Given the description of an element on the screen output the (x, y) to click on. 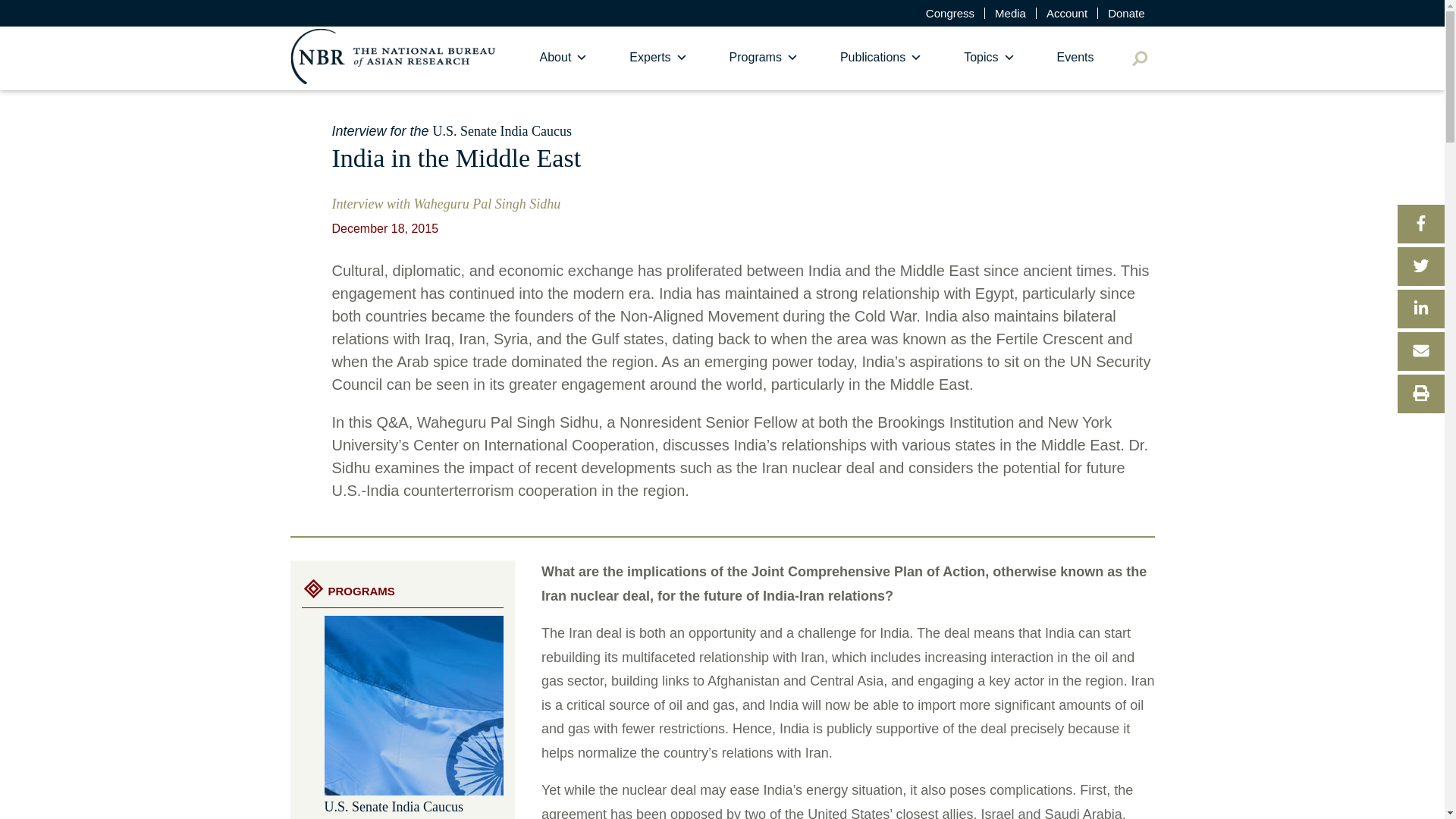
Media (1010, 12)
Congress (949, 12)
Donate (1125, 12)
Programs (763, 57)
Account (1066, 12)
Experts (658, 57)
About (563, 57)
